Given the description of an element on the screen output the (x, y) to click on. 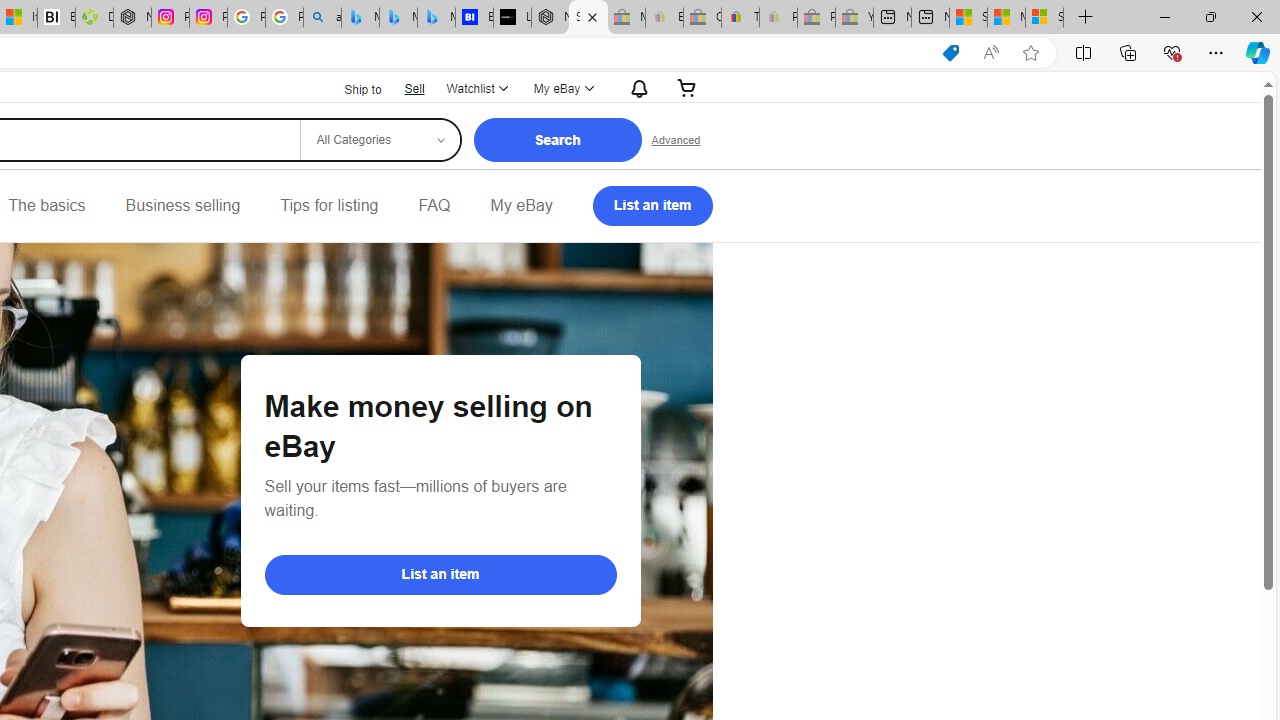
Ship to (349, 88)
AutomationID: gh-eb-Alerts (636, 88)
Threats and offensive language policy | eBay (740, 17)
Yard, Garden & Outdoor Living - Sleeping (853, 17)
The basics (46, 205)
Notifications (634, 88)
Microsoft Bing Travel - Flights from Hong Kong to Bangkok (359, 17)
My eBayExpand My eBay (562, 88)
Microsoft Bing Travel - Shangri-La Hotel Bangkok (436, 17)
Press Room - eBay Inc. - Sleeping (815, 17)
